Given the description of an element on the screen output the (x, y) to click on. 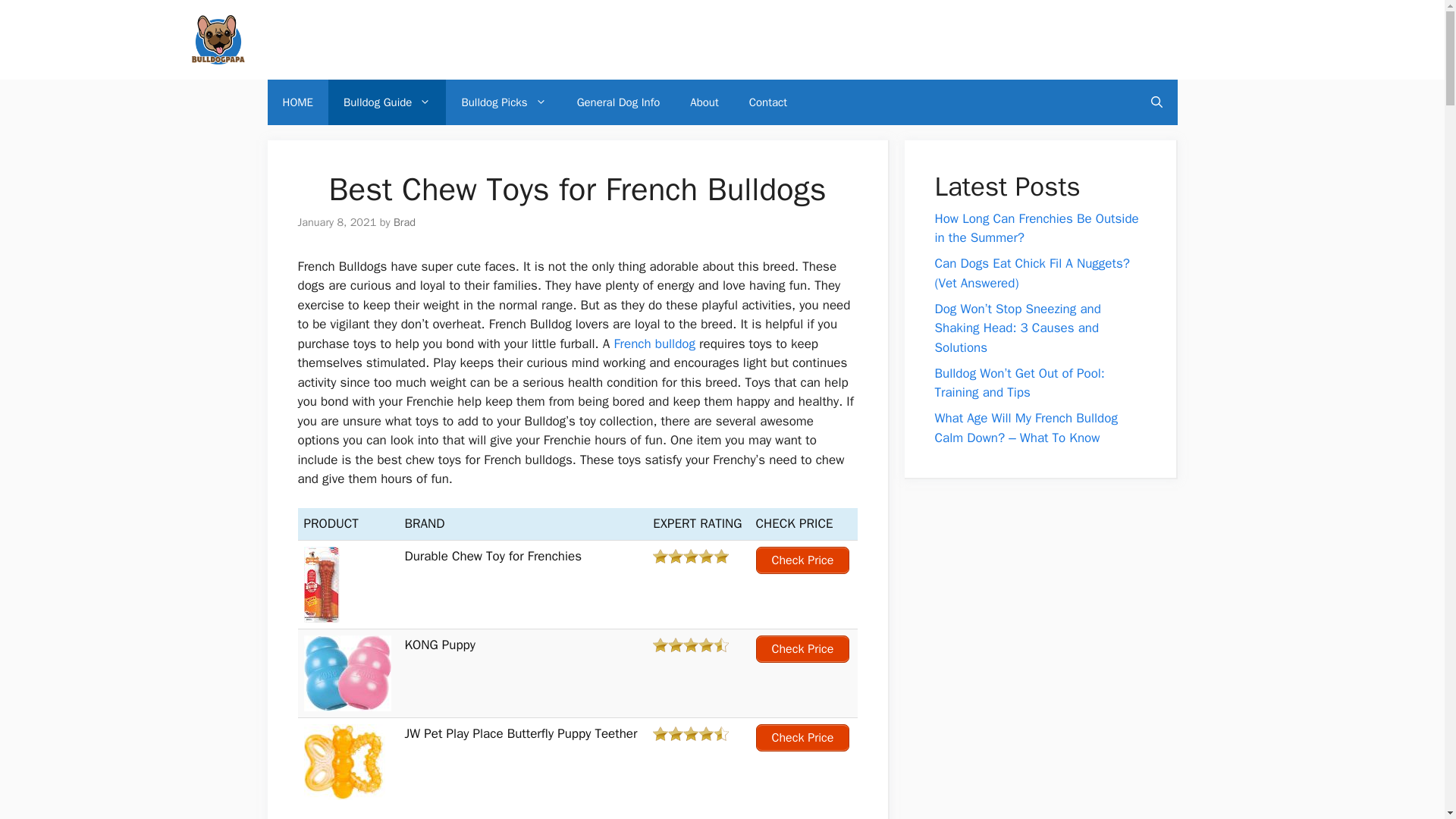
Brad (403, 222)
Bulldog Picks (502, 102)
Check Price (802, 560)
Check Price (802, 737)
French bulldog (653, 343)
About (704, 102)
General Dog Info (618, 102)
Brad (403, 222)
Bulldog Guide (387, 102)
HOME (296, 102)
Contact (767, 102)
Check Price (802, 648)
